Given the description of an element on the screen output the (x, y) to click on. 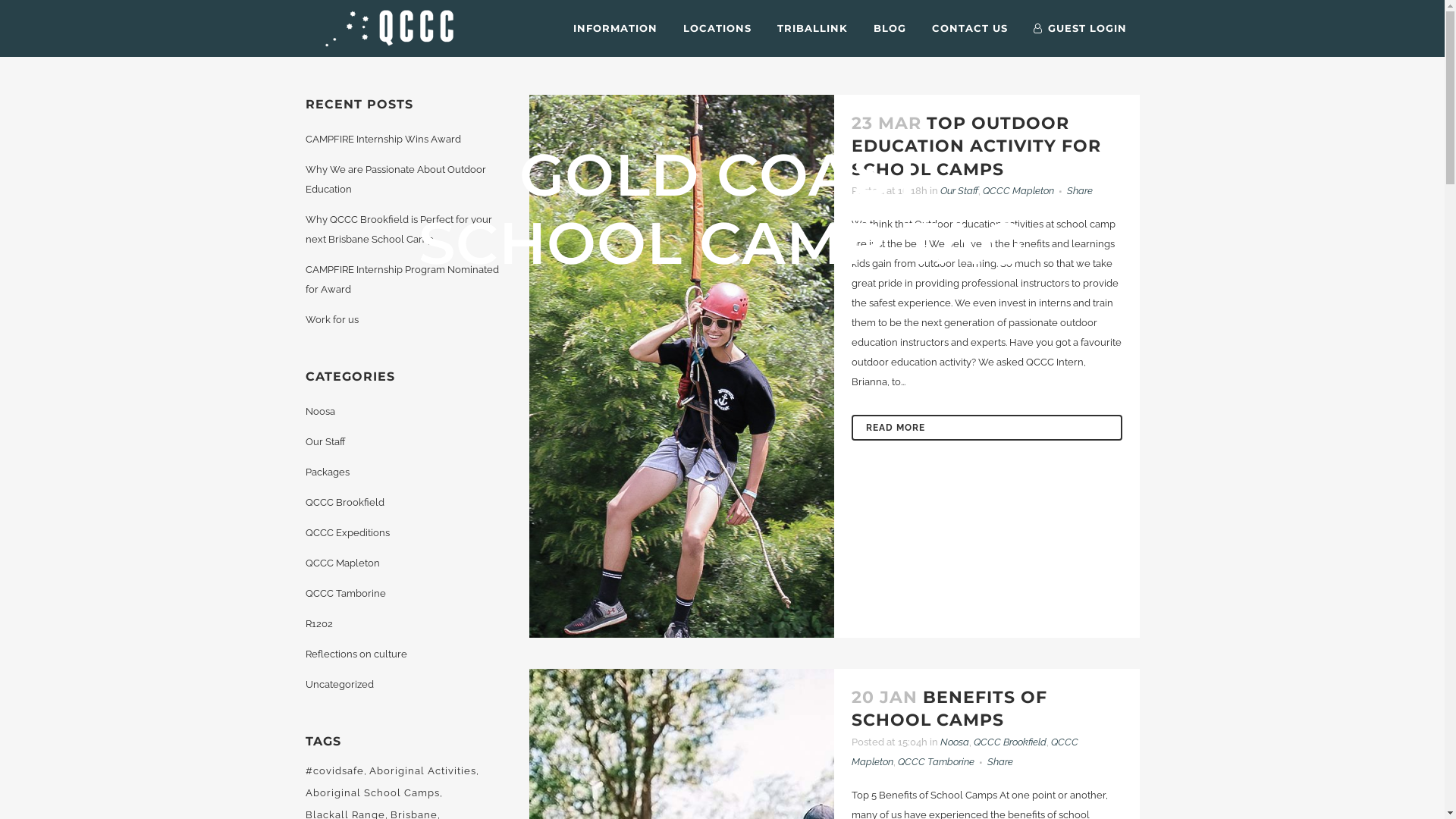
Noosa Element type: text (954, 741)
QCCC Brookfield Element type: text (1009, 741)
Our Staff Element type: text (959, 190)
CAMPFIRE Internship Program Nominated for Award Element type: text (401, 278)
QCCC Mapleton Element type: text (964, 751)
Uncategorized Element type: text (338, 684)
QCCC Tamborine Element type: text (935, 761)
R1202 Element type: text (318, 623)
Reflections on culture Element type: text (355, 653)
Aboriginal School Camps Element type: text (373, 793)
INFORMATION Element type: text (614, 28)
BLOG Element type: text (888, 28)
Our Staff Element type: text (324, 441)
Packages Element type: text (326, 471)
QCCC Mapleton Element type: text (341, 562)
QCCC Expeditions Element type: text (346, 532)
TOP OUTDOOR EDUCATION ACTIVITY FOR SCHOOL CAMPS Element type: text (976, 145)
CONTACT US Element type: text (969, 28)
Noosa Element type: text (319, 411)
QCCC Mapleton Element type: text (1018, 190)
LOCATIONS Element type: text (717, 28)
QCCC Tamborine Element type: text (344, 593)
Aboriginal Activities Element type: text (423, 771)
GUEST LOGIN Element type: text (1079, 28)
#covidsafe Element type: text (335, 771)
CAMPFIRE Internship Wins Award Element type: text (382, 138)
QCCC Brookfield Element type: text (343, 502)
Top Outdoor Education Activity for School Camps Element type: hover (681, 365)
Share Element type: text (1079, 190)
Share Element type: text (1000, 761)
BENEFITS OF SCHOOL CAMPS Element type: text (949, 708)
READ MORE Element type: text (986, 427)
Why We are Passionate About Outdoor Education Element type: text (394, 178)
Work for us Element type: text (330, 319)
TRIBALLINK Element type: text (812, 28)
